Given the description of an element on the screen output the (x, y) to click on. 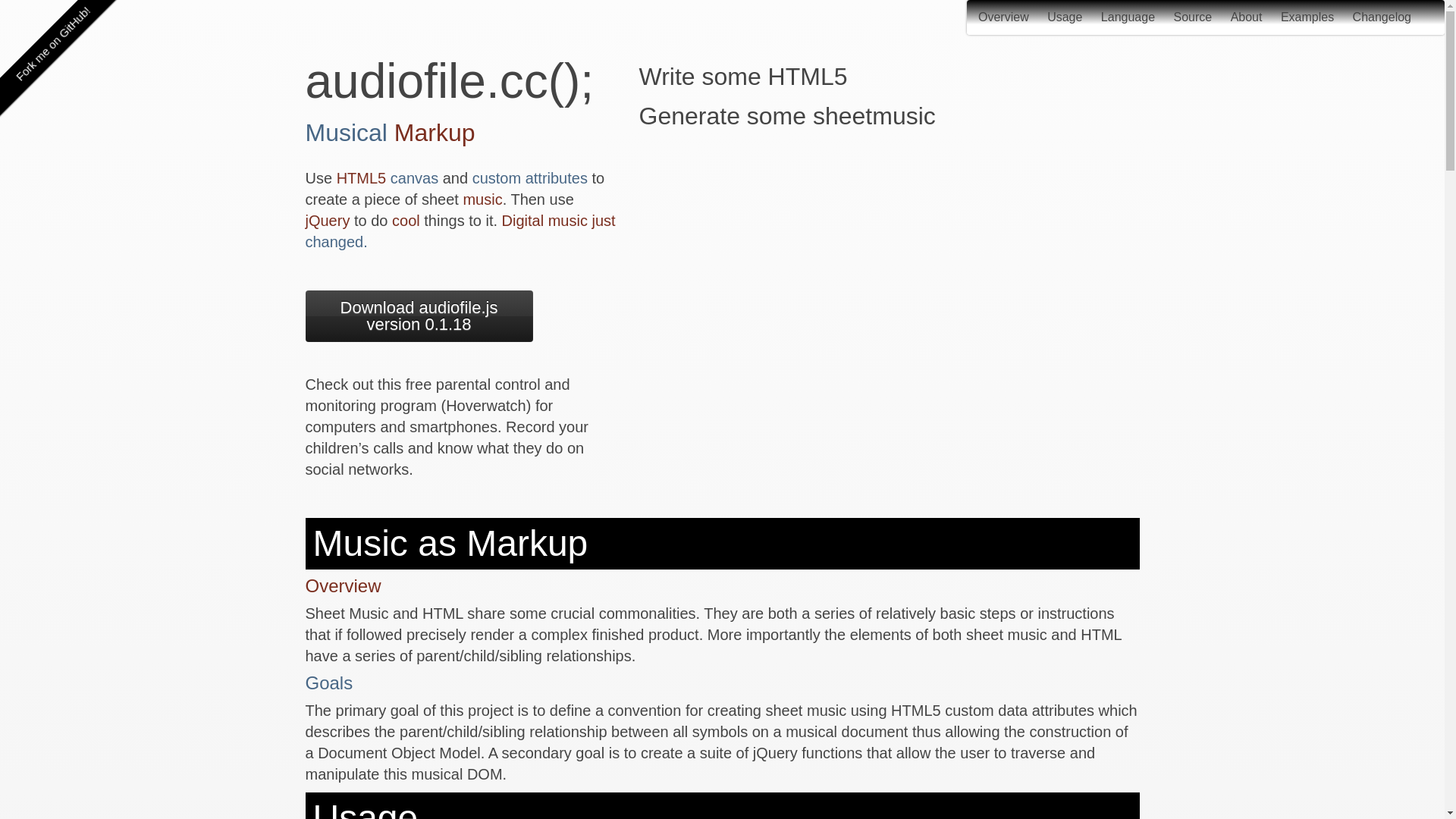
Examples Element type: text (1306, 16)
Download audiofile.js
version 0.1.18 Element type: text (418, 316)
Changelog Element type: text (1381, 16)
Overview Element type: text (1003, 16)
Source Element type: text (1192, 16)
audiofile.cc(); Element type: text (448, 80)
About Element type: text (1246, 16)
Usage Element type: text (1064, 16)
Download audiofile.js
version 0.1.18 Element type: text (418, 308)
Language Element type: text (1127, 16)
